Given the description of an element on the screen output the (x, y) to click on. 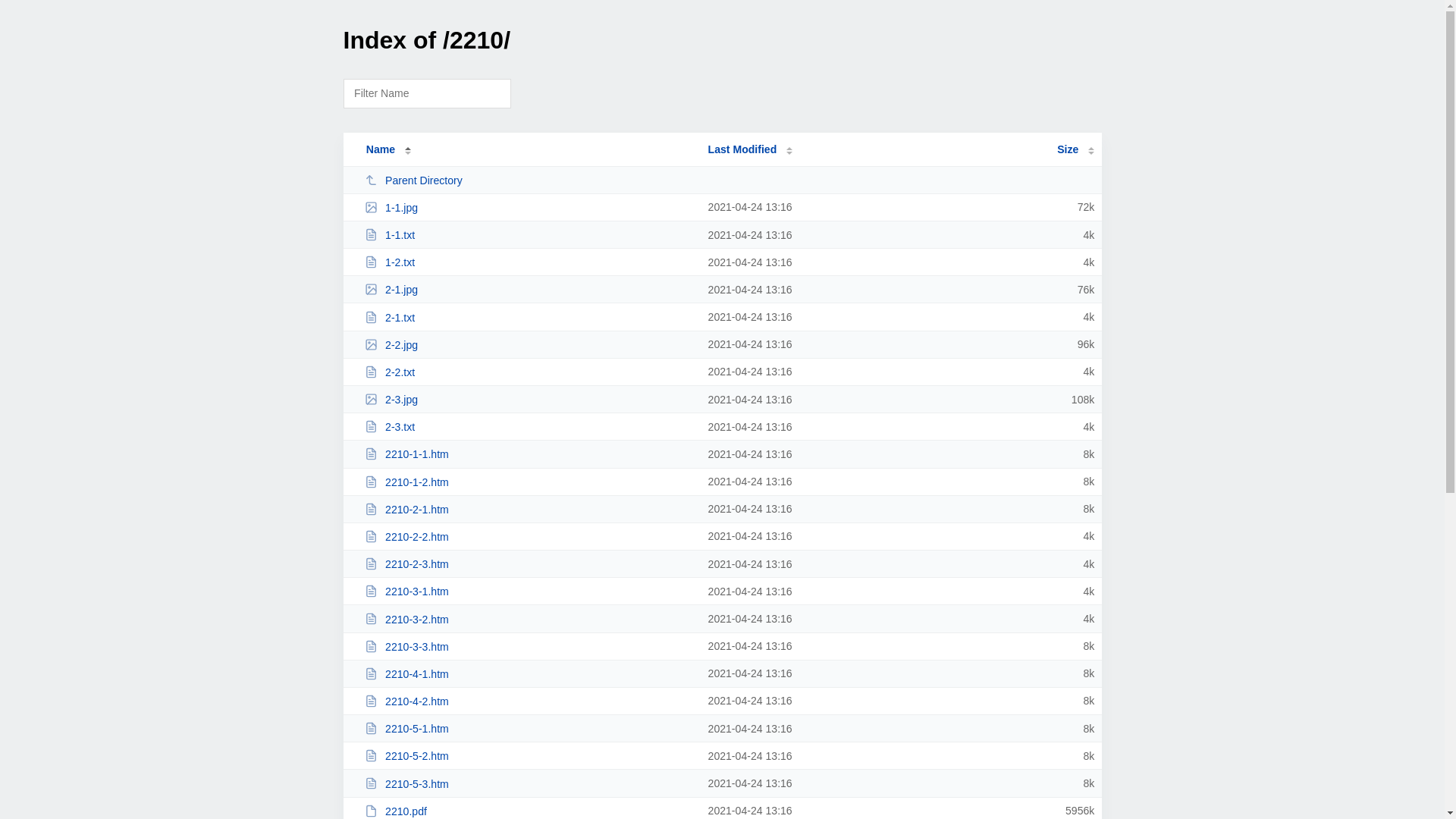
1-2.txt Element type: text (529, 261)
2210-2-1.htm Element type: text (529, 508)
Parent Directory Element type: text (529, 179)
2-3.jpg Element type: text (529, 398)
2210-5-2.htm Element type: text (529, 755)
1-1.jpg Element type: text (529, 206)
Name Element type: text (380, 149)
2210-3-1.htm Element type: text (529, 590)
2-2.txt Element type: text (529, 371)
2210-1-2.htm Element type: text (529, 481)
2210-4-1.htm Element type: text (529, 673)
2-2.jpg Element type: text (529, 344)
2210-2-2.htm Element type: text (529, 536)
1-1.txt Element type: text (529, 234)
2-1.txt Element type: text (529, 316)
2210-3-2.htm Element type: text (529, 618)
2210-3-3.htm Element type: text (529, 646)
2210-2-3.htm Element type: text (529, 563)
2210-5-1.htm Element type: text (529, 727)
2-3.txt Element type: text (529, 426)
Size Element type: text (1075, 149)
2210-4-2.htm Element type: text (529, 700)
2-1.jpg Element type: text (529, 288)
2210-1-1.htm Element type: text (529, 453)
Last Modified Element type: text (750, 149)
2210-5-3.htm Element type: text (529, 783)
2210.pdf Element type: text (529, 810)
